Given the description of an element on the screen output the (x, y) to click on. 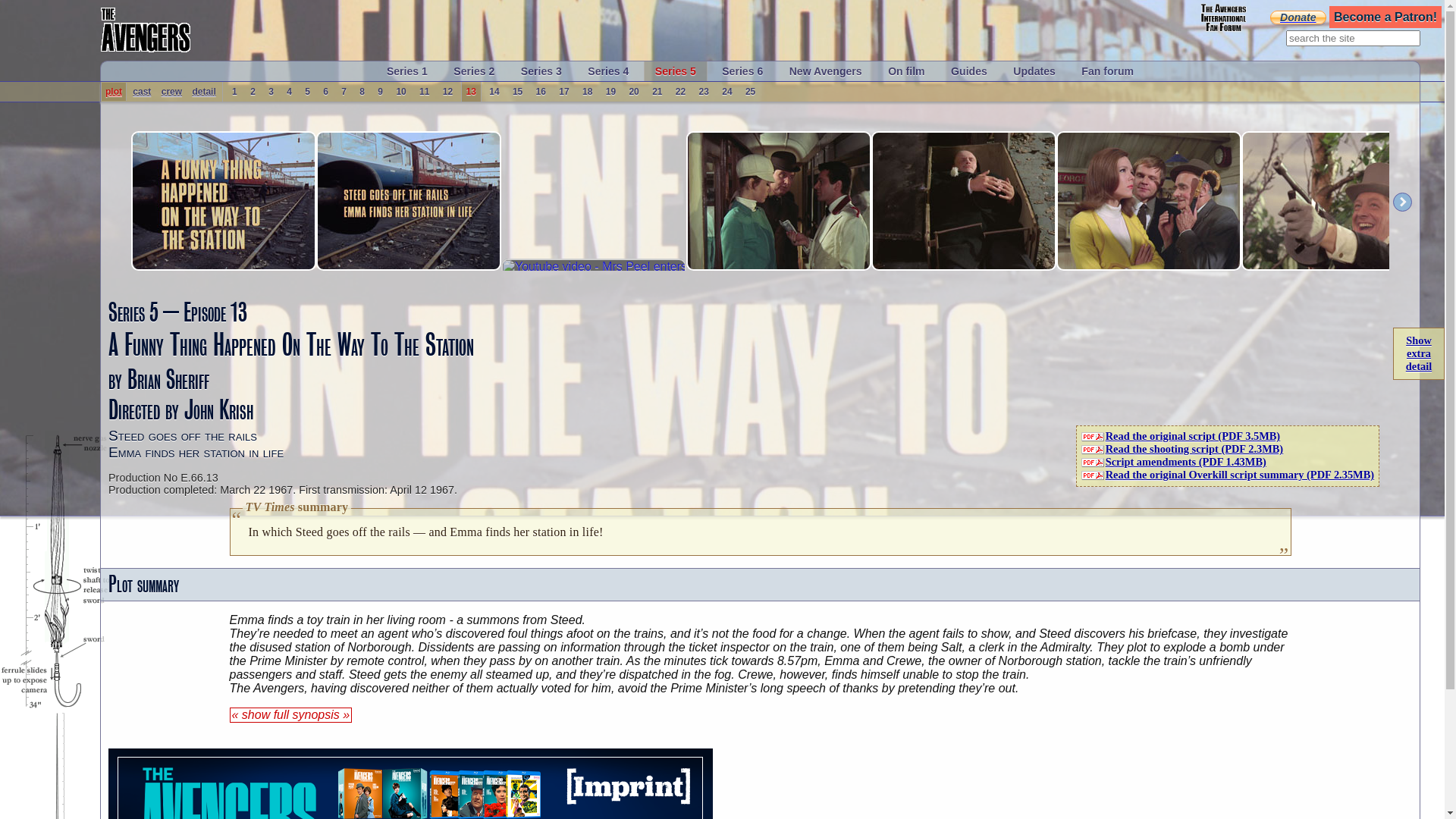
5 Element type: text (307, 91)
fan forum Element type: text (1221, 18)
search the site Element type: hover (1353, 38)
8 Element type: text (362, 91)
22 Element type: text (680, 91)
New Avengers Element type: text (825, 71)
9 Element type: text (380, 91)
4 Element type: text (289, 91)
Series 4 Element type: text (608, 71)
Donate Element type: text (1297, 16)
Series 2 Element type: text (473, 71)
12 Element type: text (447, 91)
17 Element type: text (563, 91)
Series 1 Element type: text (407, 71)
18 Element type: text (587, 91)
show full synopsis Element type: text (290, 714)
Show extra detail Element type: text (1418, 353)
Updates Element type: text (1033, 71)
14 Element type: text (493, 91)
23 Element type: text (703, 91)
11 Element type: text (424, 91)
plot Element type: text (113, 91)
16 Element type: text (540, 91)
Read the original script (PDF 3.5MB) Element type: text (1180, 435)
21 Element type: text (656, 91)
19 Element type: text (610, 91)
Fan forum Element type: text (1107, 71)
detail Element type: text (203, 91)
1 Element type: text (234, 91)
Read the shooting script (PDF 2.3MB) Element type: text (1182, 448)
Series 6 Element type: text (742, 71)
cast Element type: text (141, 91)
20 Element type: text (633, 91)
Series 3 Element type: text (541, 71)
crew Element type: text (171, 91)
13 Element type: text (471, 91)
10 Element type: text (400, 91)
Guides Element type: text (968, 71)
Script amendments (PDF 1.43MB) Element type: text (1173, 461)
Become a Patron! Element type: text (1385, 17)
Series 5 Element type: text (675, 71)
Read the original Overkill script summary (PDF 2.35MB) Element type: text (1227, 474)
2 Element type: text (252, 91)
15 Element type: text (517, 91)
6 Element type: text (325, 91)
24 Element type: text (726, 91)
On film Element type: text (906, 71)
25 Element type: text (750, 91)
Home Element type: text (145, 30)
7 Element type: text (343, 91)
3 Element type: text (271, 91)
